Given the description of an element on the screen output the (x, y) to click on. 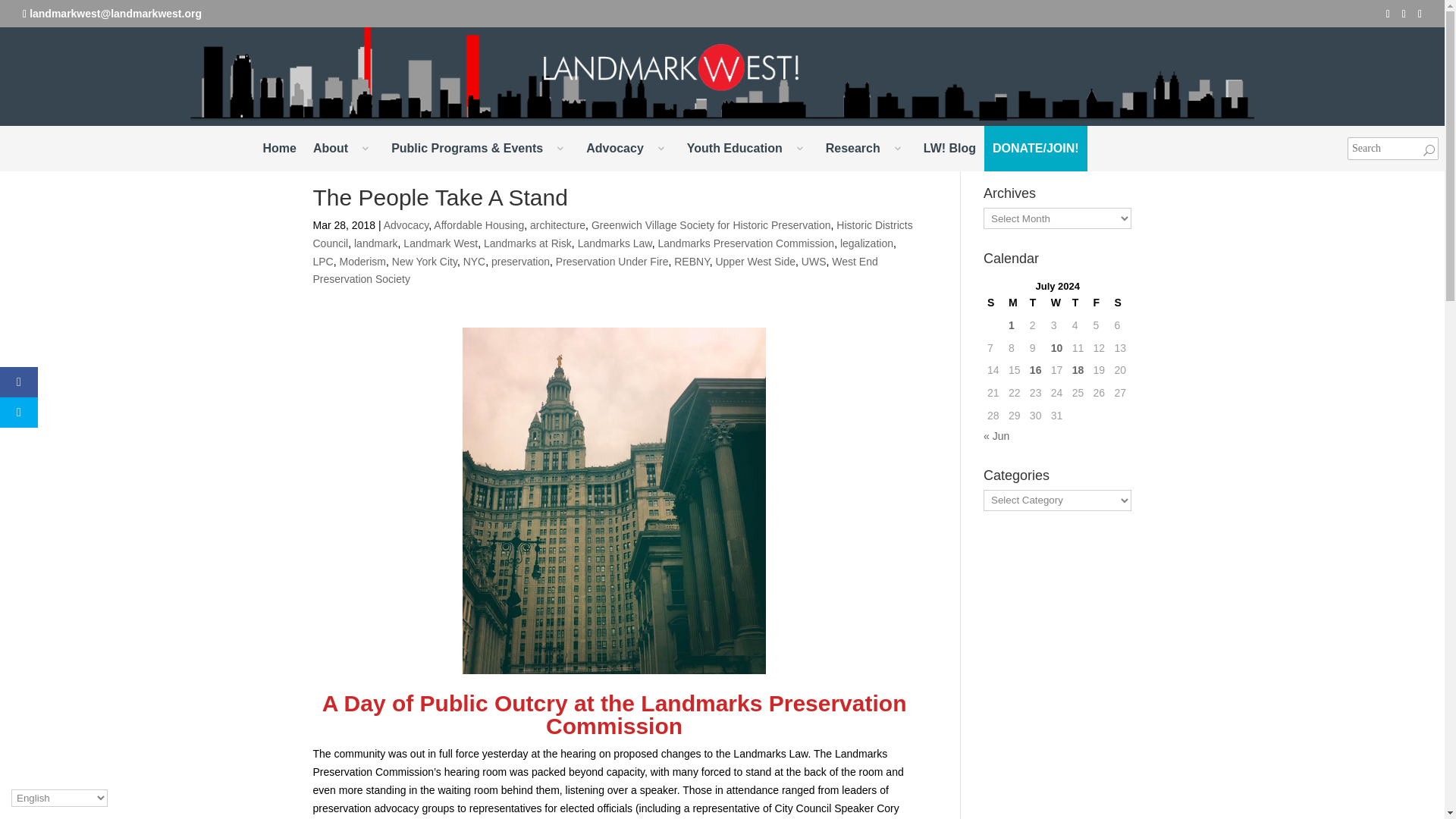
Advocacy (628, 148)
Home (278, 148)
About (343, 148)
